Given the description of an element on the screen output the (x, y) to click on. 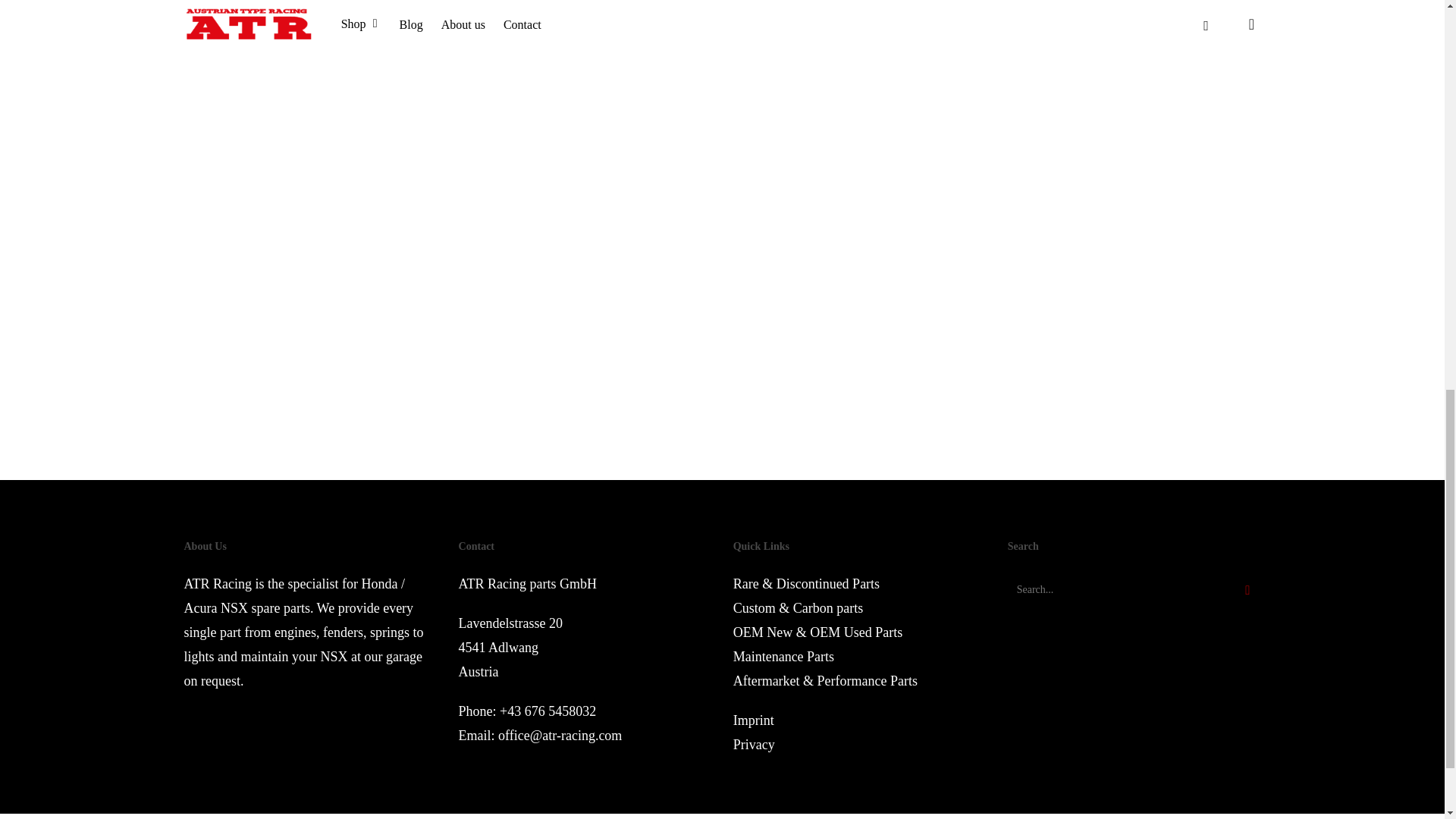
Maintenance Parts (783, 656)
Imprint (753, 720)
Privacy (753, 744)
Search for: (1133, 589)
